Given the description of an element on the screen output the (x, y) to click on. 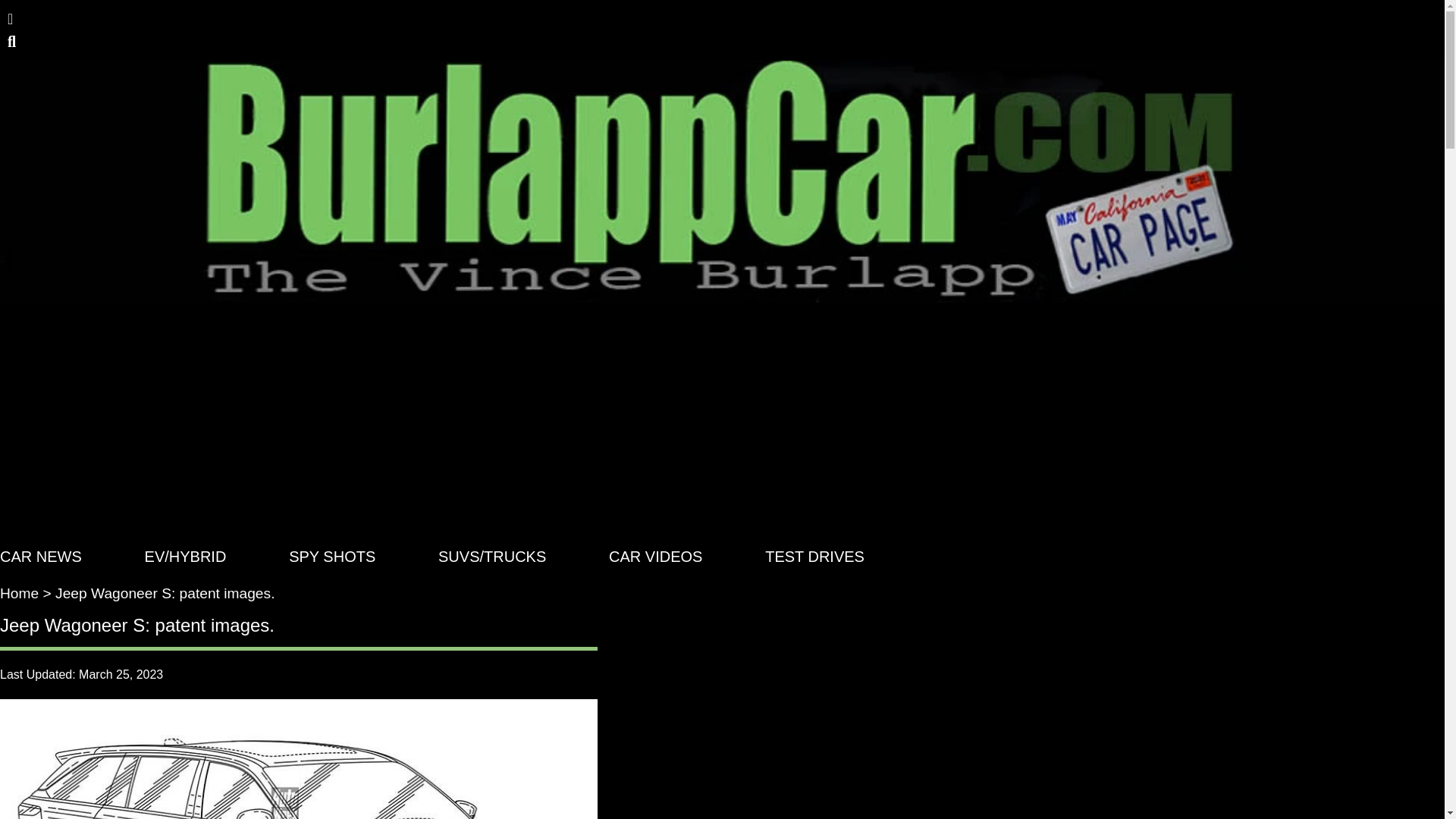
CAR NEWS (40, 556)
TEST DRIVES (814, 556)
SPY SHOTS (331, 556)
CAR VIDEOS (654, 556)
Home (19, 593)
